Given the description of an element on the screen output the (x, y) to click on. 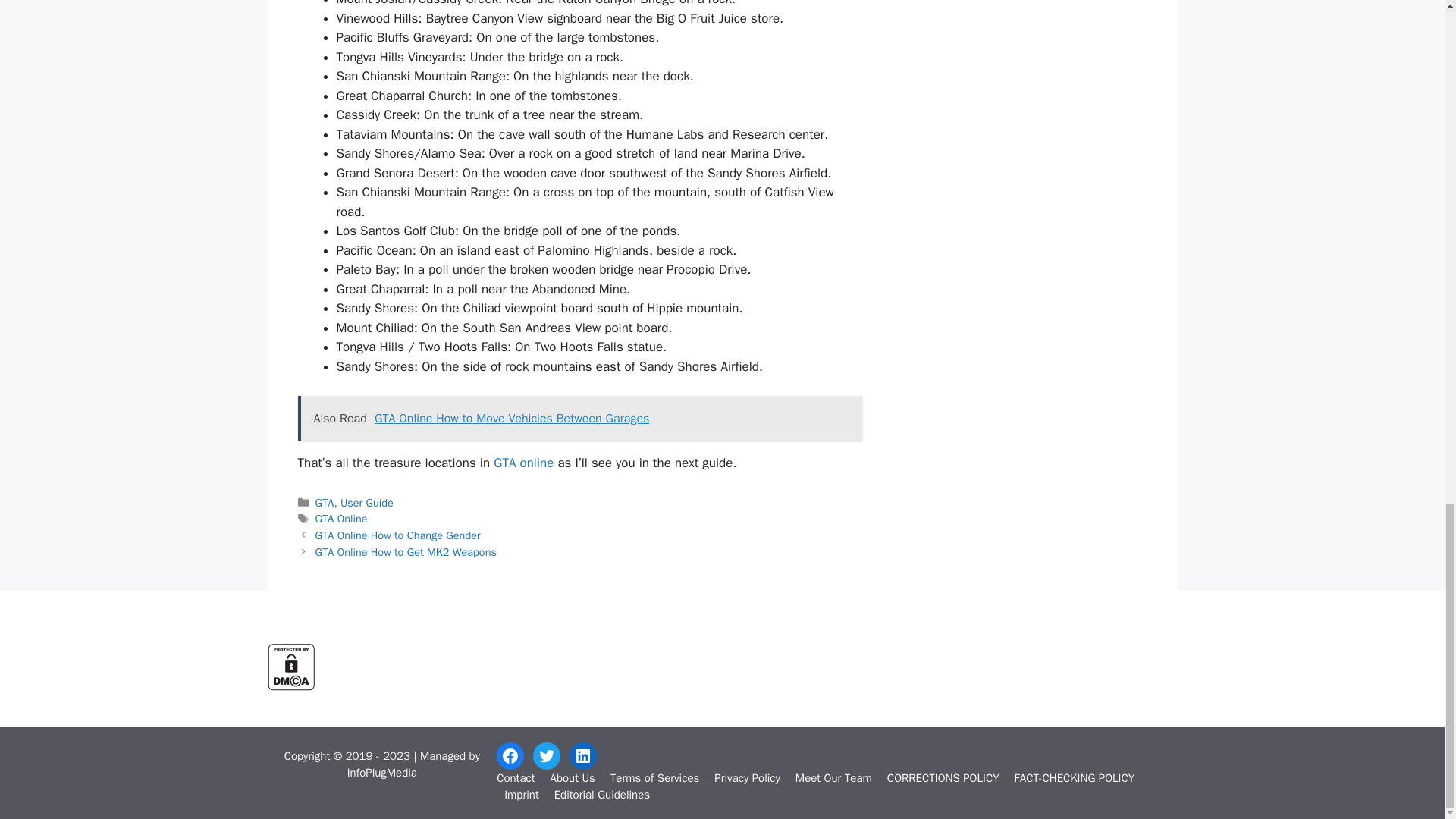
Also Read  GTA Online How to Move Vehicles Between Garages (579, 418)
FACT-CHECKING POLICY (1074, 777)
About Us (572, 777)
Meet Our Team (833, 777)
GTA Online How to Change Gender (397, 535)
GTA Online (341, 518)
Facebook (510, 755)
GTA Online How to Get MK2 Weapons (405, 551)
Terms of Services (654, 777)
LinkedIn (582, 755)
